Given the description of an element on the screen output the (x, y) to click on. 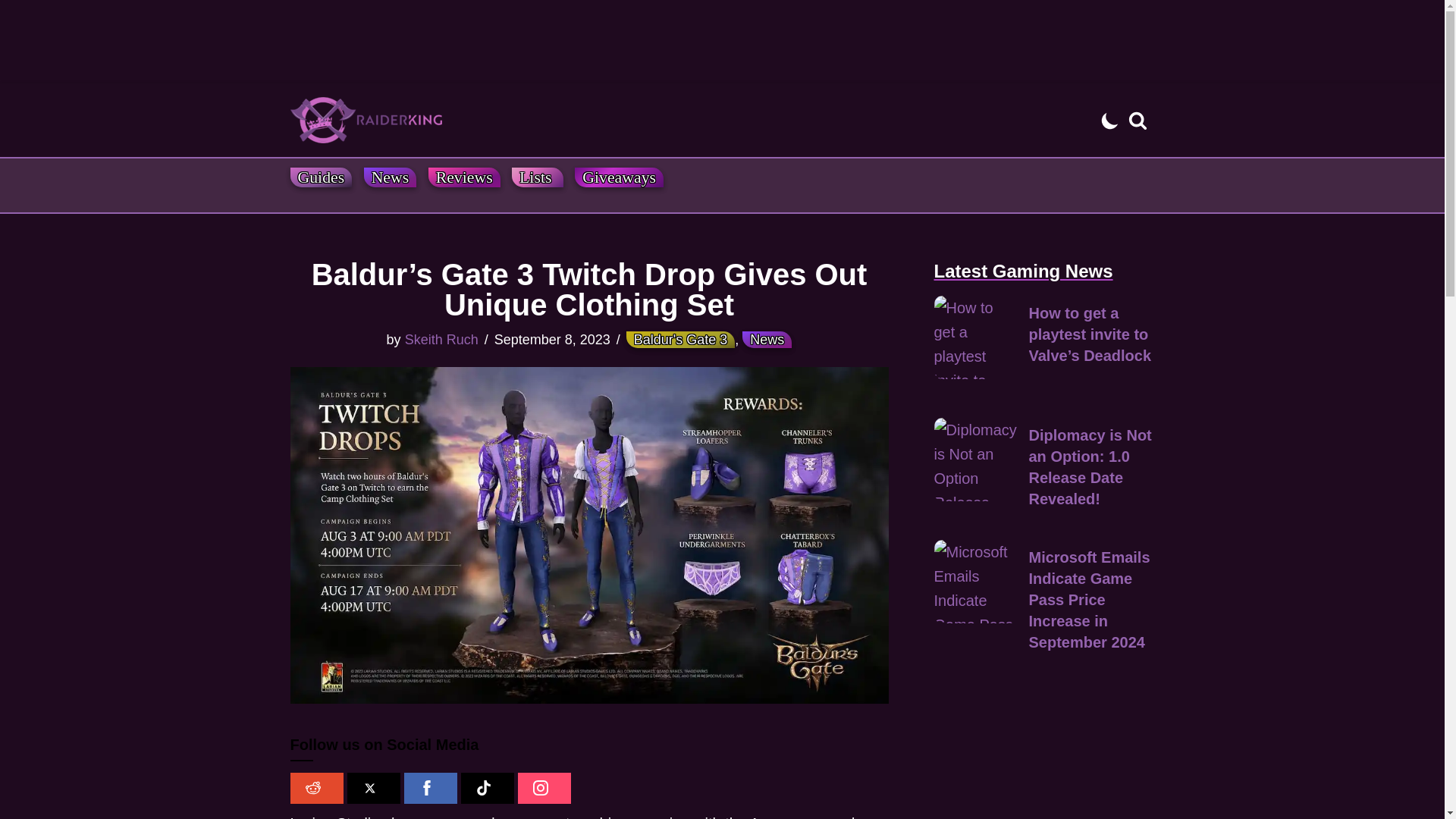
News (390, 177)
Skeith Ruch (441, 339)
Lists  (537, 177)
Posts by Skeith Ruch (441, 339)
Baldur's Gate 3 (680, 339)
News (767, 339)
Giveaways (619, 177)
Reviews (464, 177)
Skip to content (11, 114)
Guides (320, 177)
